Given the description of an element on the screen output the (x, y) to click on. 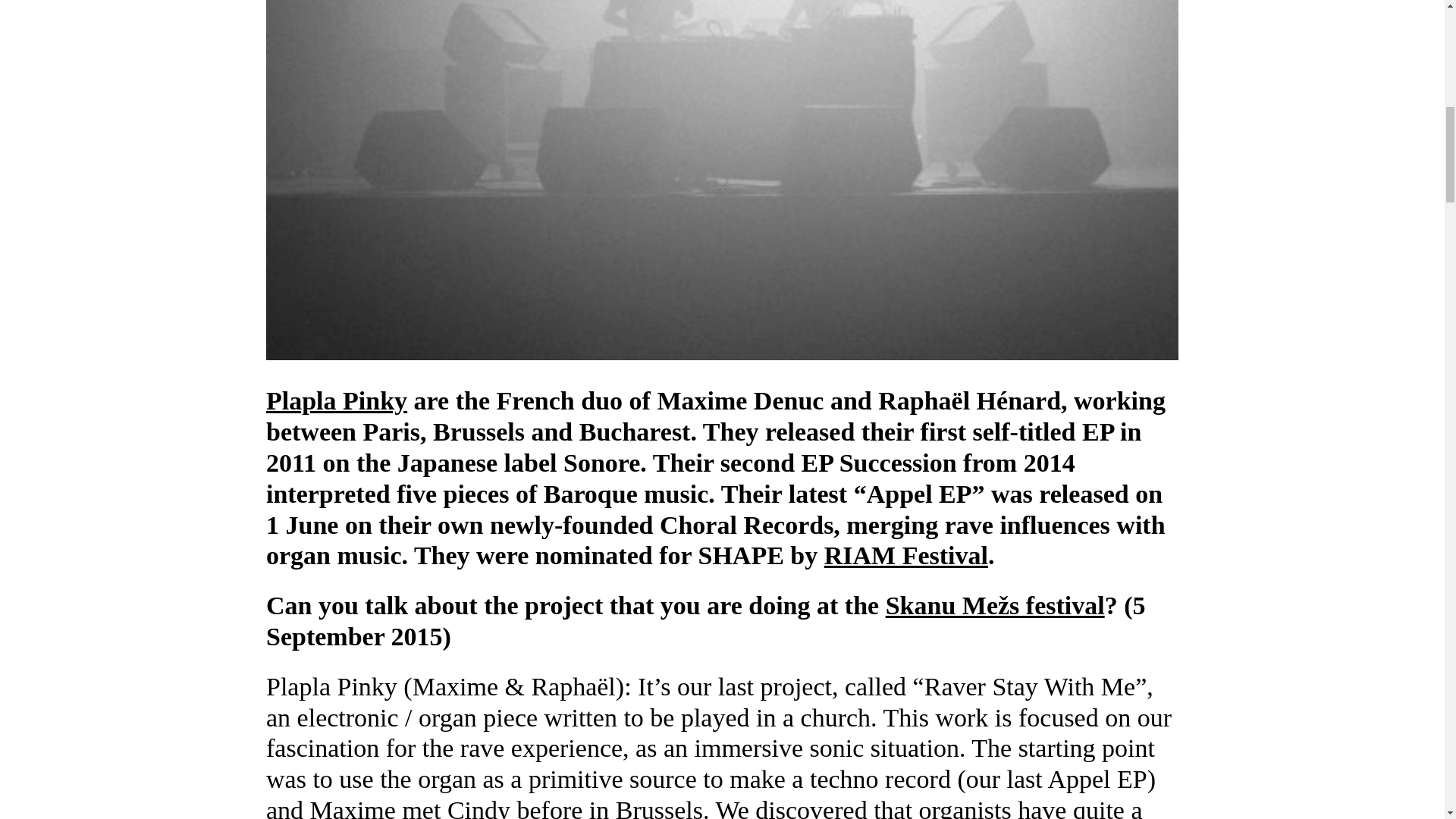
RIAM Festival (906, 555)
Plapla Pinky (336, 400)
Plapla Pinky (336, 400)
